Given the description of an element on the screen output the (x, y) to click on. 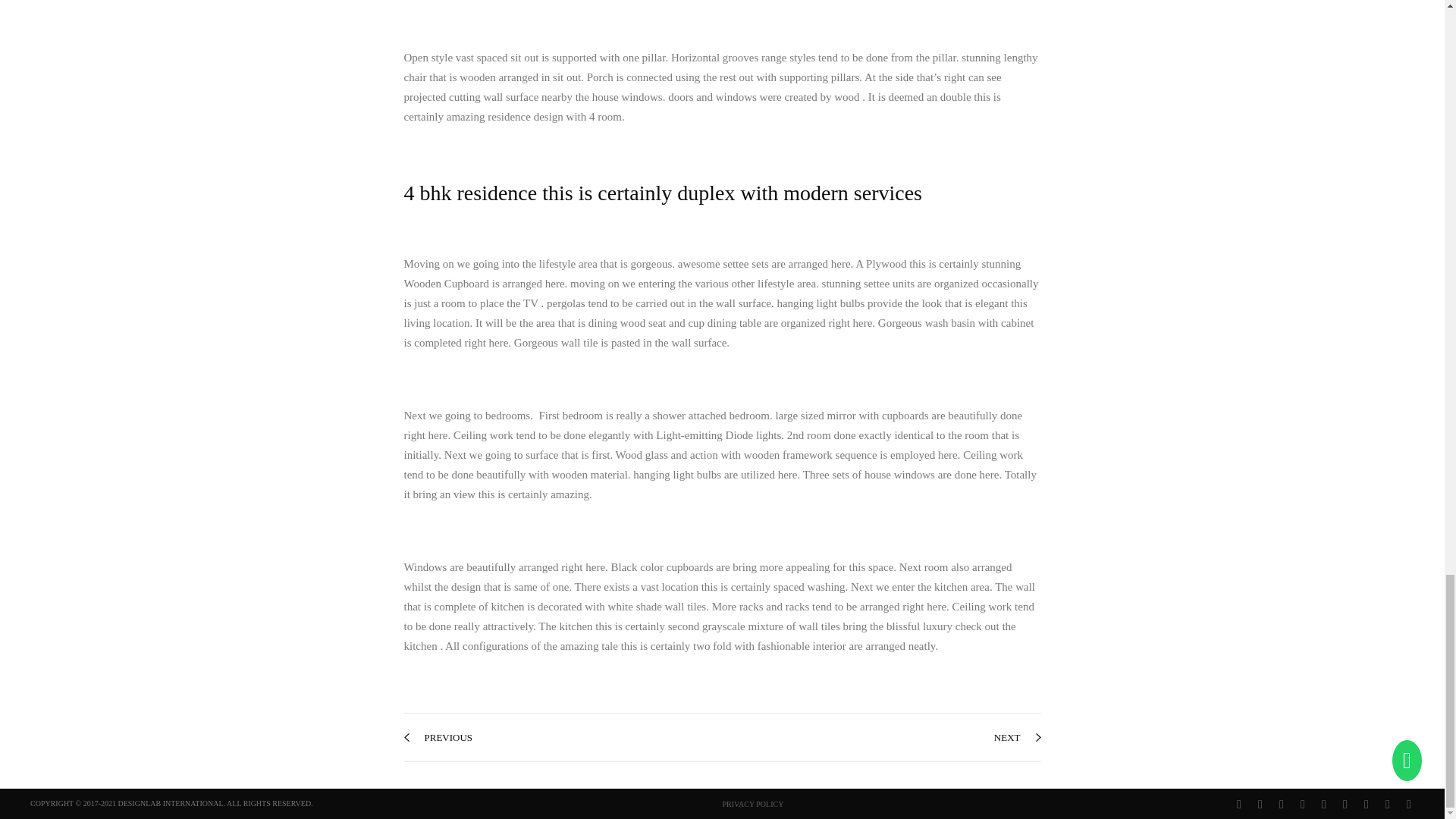
PREVIOUS (437, 737)
NEXT (1017, 737)
PRIVACY POLICY (752, 804)
